Given the description of an element on the screen output the (x, y) to click on. 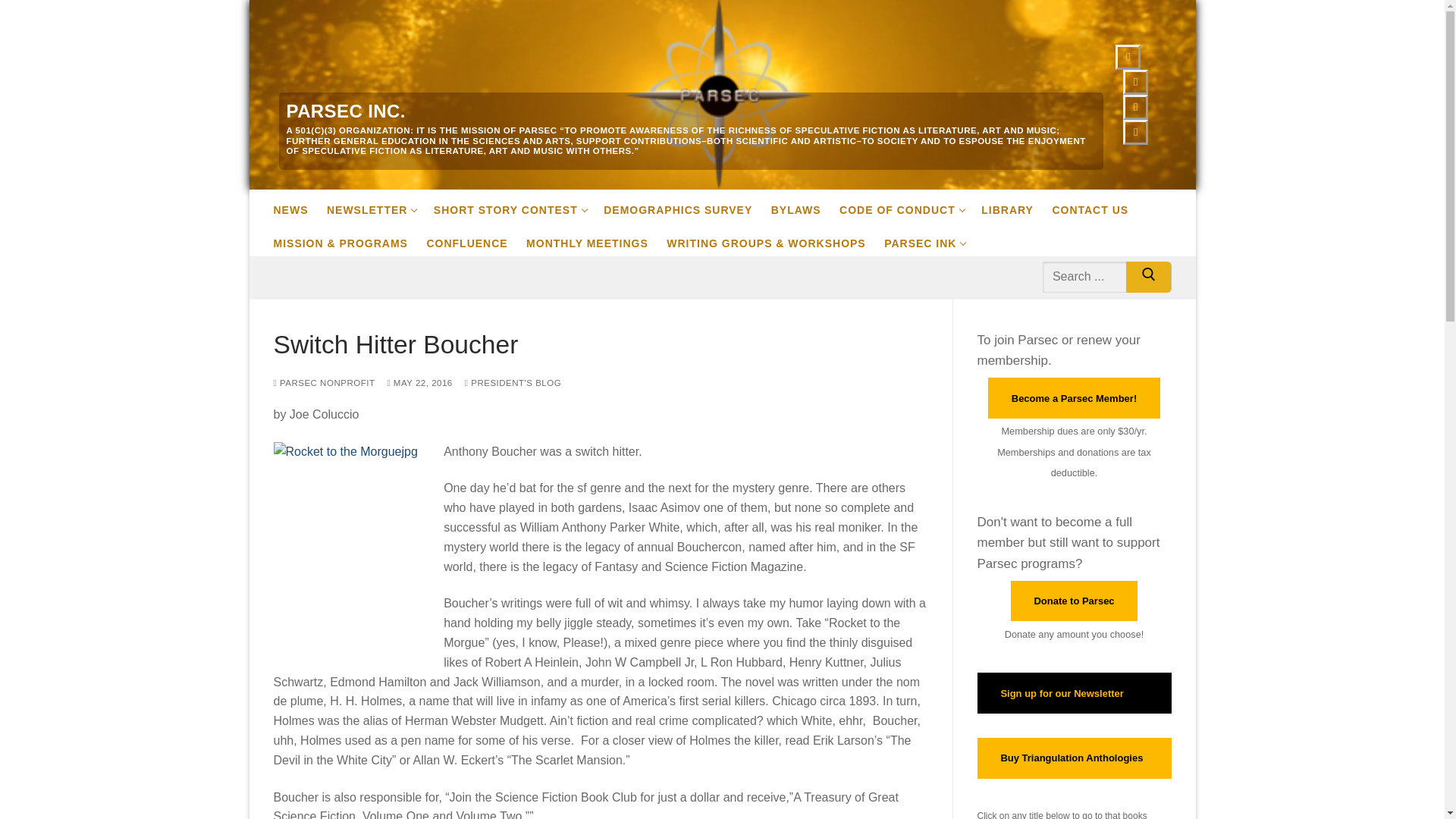
PARSEC INC. (346, 110)
PRESIDENT'S BLOG (512, 382)
CONTACT US (1096, 205)
Facebook (930, 239)
BYLAWS (1128, 57)
MAY 22, 2016 (803, 205)
Search for: (419, 382)
LIBRARY (1099, 276)
PARSEC NONPROFIT (516, 205)
Instagram (1014, 205)
Youtube (323, 382)
Bluesky (1135, 107)
DEMOGRAPHICS SURVEY (1135, 81)
